Given the description of an element on the screen output the (x, y) to click on. 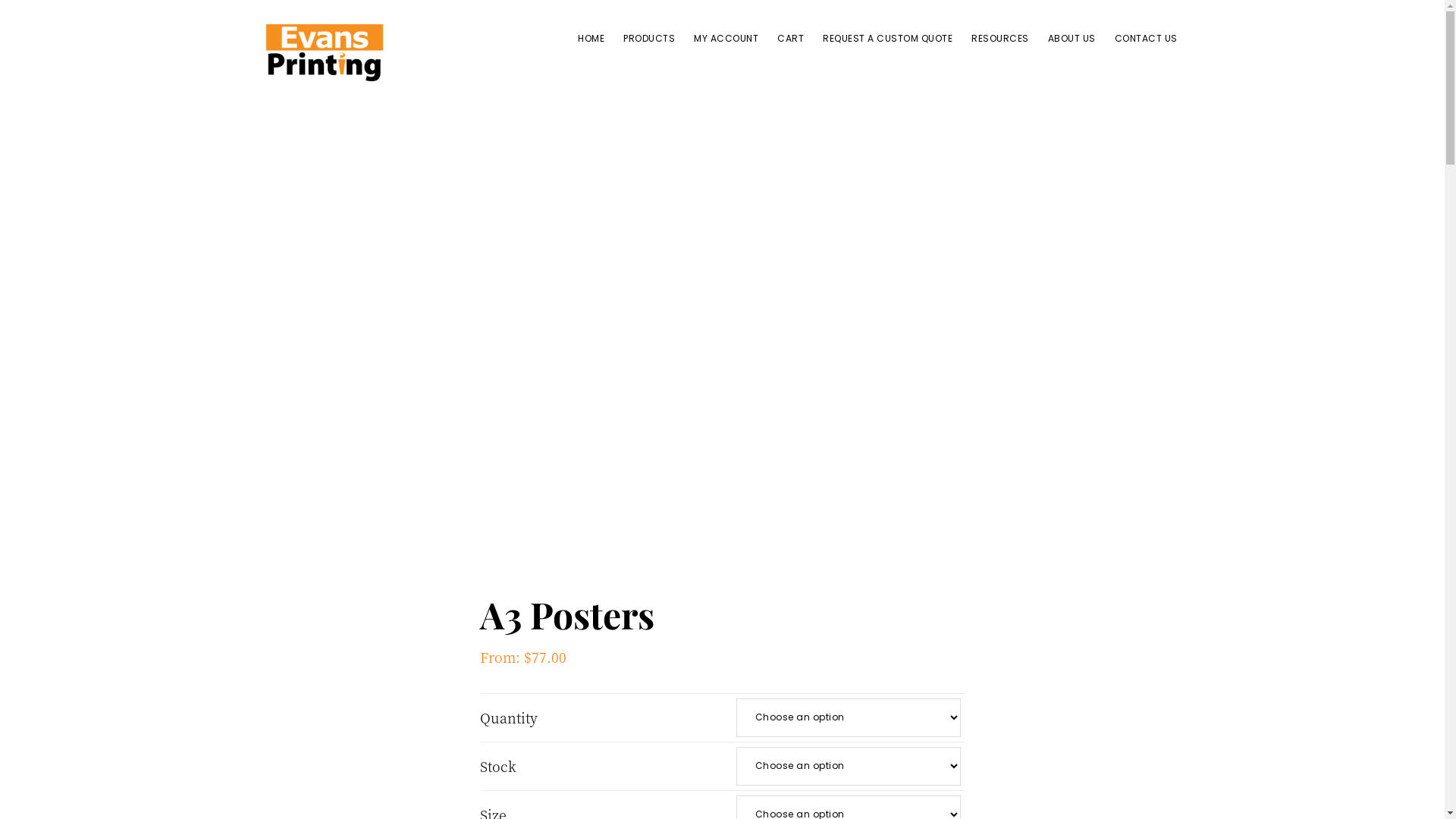
CONTACT US Element type: text (1146, 37)
Evans Element type: text (287, 95)
HOME Element type: text (590, 37)
REQUEST A CUSTOM QUOTE Element type: text (887, 37)
MY ACCOUNT Element type: text (725, 37)
ABOUT US Element type: text (1071, 37)
PRODUCTS Element type: text (648, 37)
Skip to main content Element type: text (0, 0)
CART Element type: text (790, 37)
RESOURCES Element type: text (999, 37)
